Given the description of an element on the screen output the (x, y) to click on. 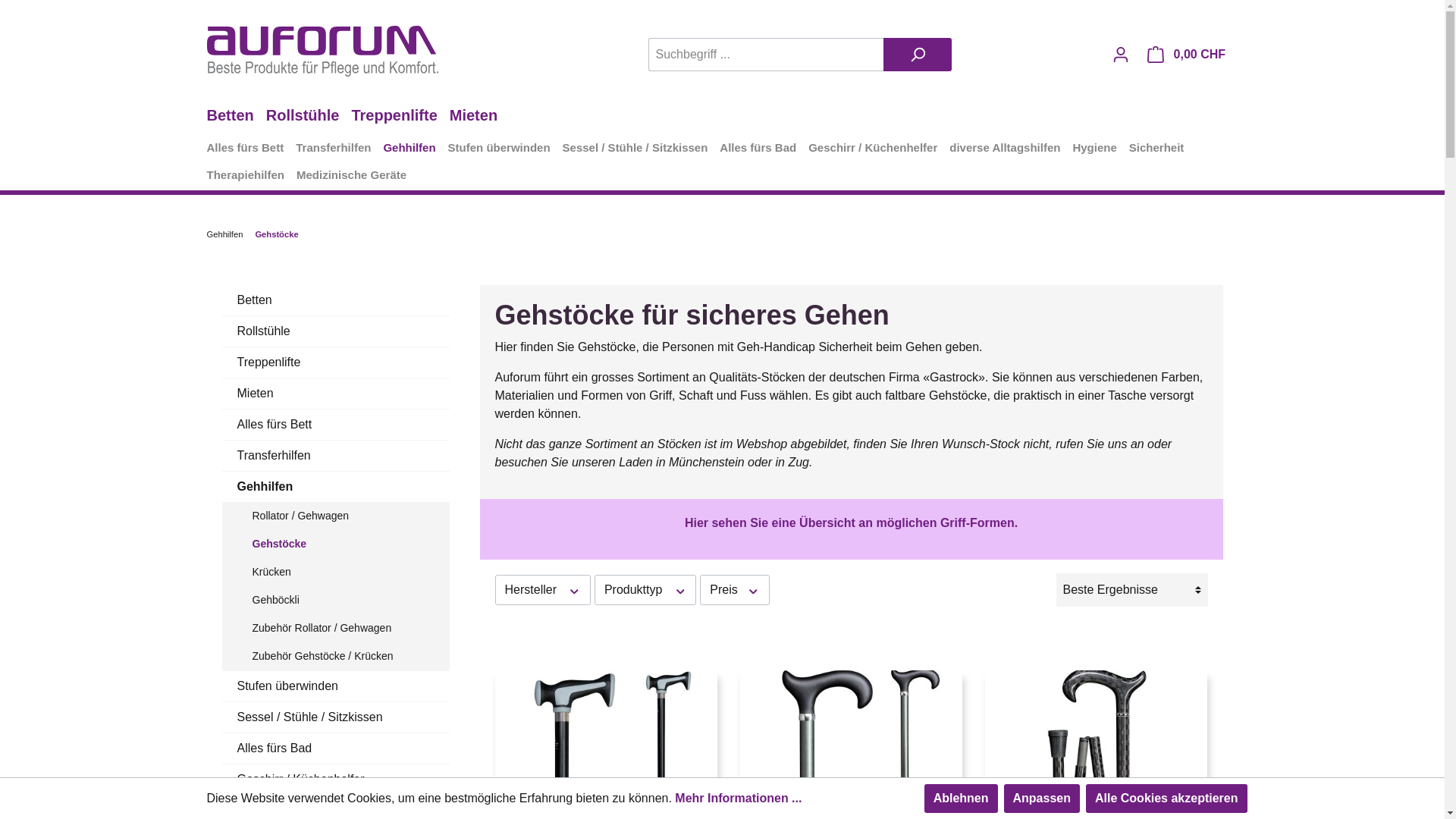
Hersteller Element type: text (541, 589)
Transferhilfen Element type: text (334, 455)
Gehhilfen Element type: text (224, 233)
Gehhilfen Element type: text (334, 486)
0,00 CHF  Element type: text (1187, 54)
Betten Element type: text (334, 300)
Rollator / Gehwagen Element type: text (342, 516)
Treppenlifte Element type: text (334, 362)
Alle Cookies akzeptieren Element type: text (1166, 798)
Anpassen Element type: text (1041, 798)
Therapiehilfen Element type: text (251, 177)
Produkttyp Element type: text (645, 589)
Ablehnen Element type: text (960, 798)
Transferhilfen Element type: text (338, 149)
Mehr Informationen ... Element type: text (737, 798)
Mieten Element type: text (479, 116)
Treppenlifte Element type: text (399, 116)
Preis Element type: text (733, 589)
Hygiene Element type: text (1100, 149)
Sicherheit Element type: text (1162, 149)
diverse Alltagshilfen Element type: text (1010, 149)
Betten Element type: text (235, 116)
Zur Startseite wechseln Element type: hover (321, 50)
Gehhilfen Element type: text (414, 149)
Mieten Element type: text (334, 393)
